Given the description of an element on the screen output the (x, y) to click on. 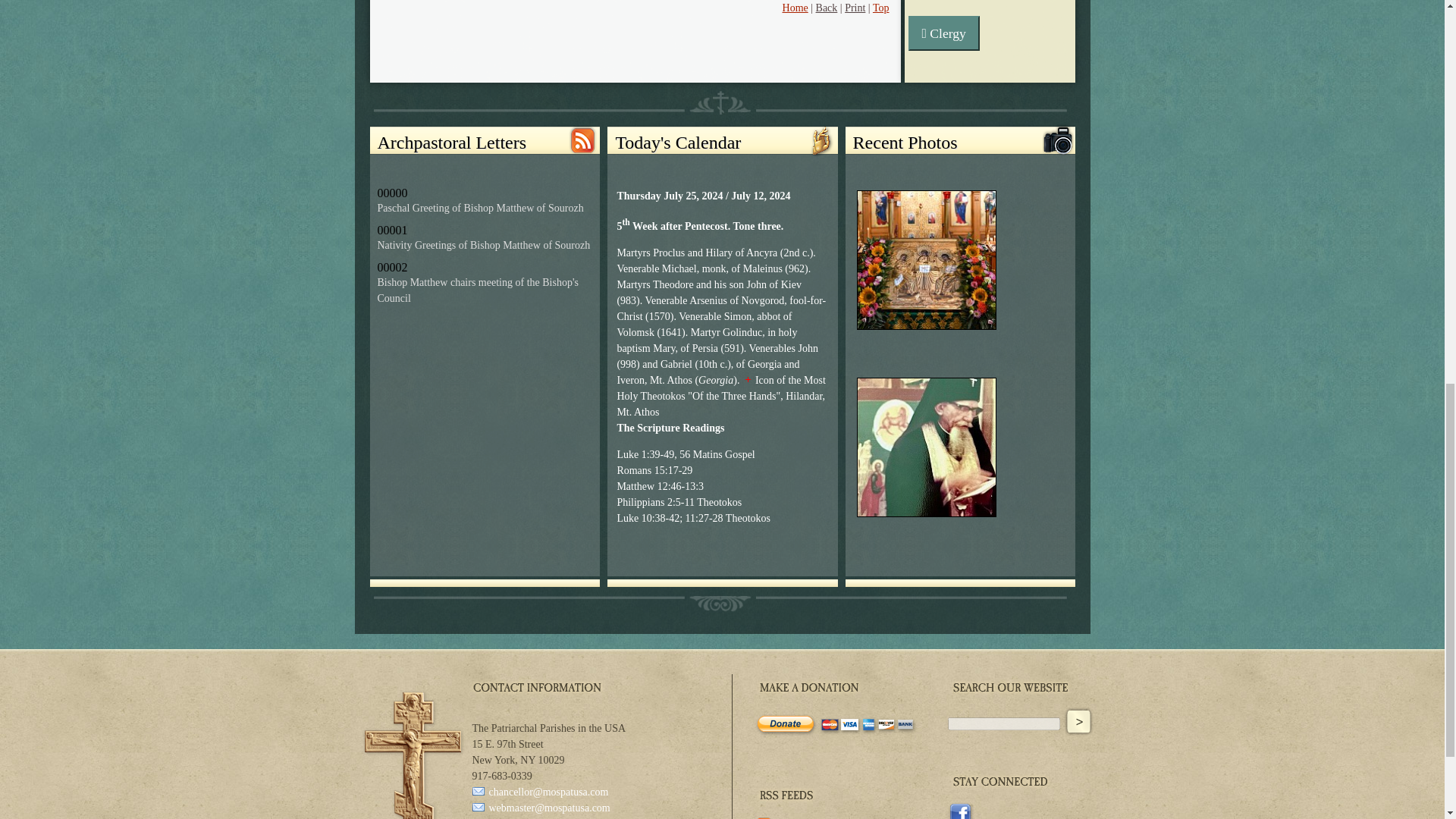
Home (795, 7)
Top (880, 7)
Back (826, 7)
Print (854, 7)
